Given the description of an element on the screen output the (x, y) to click on. 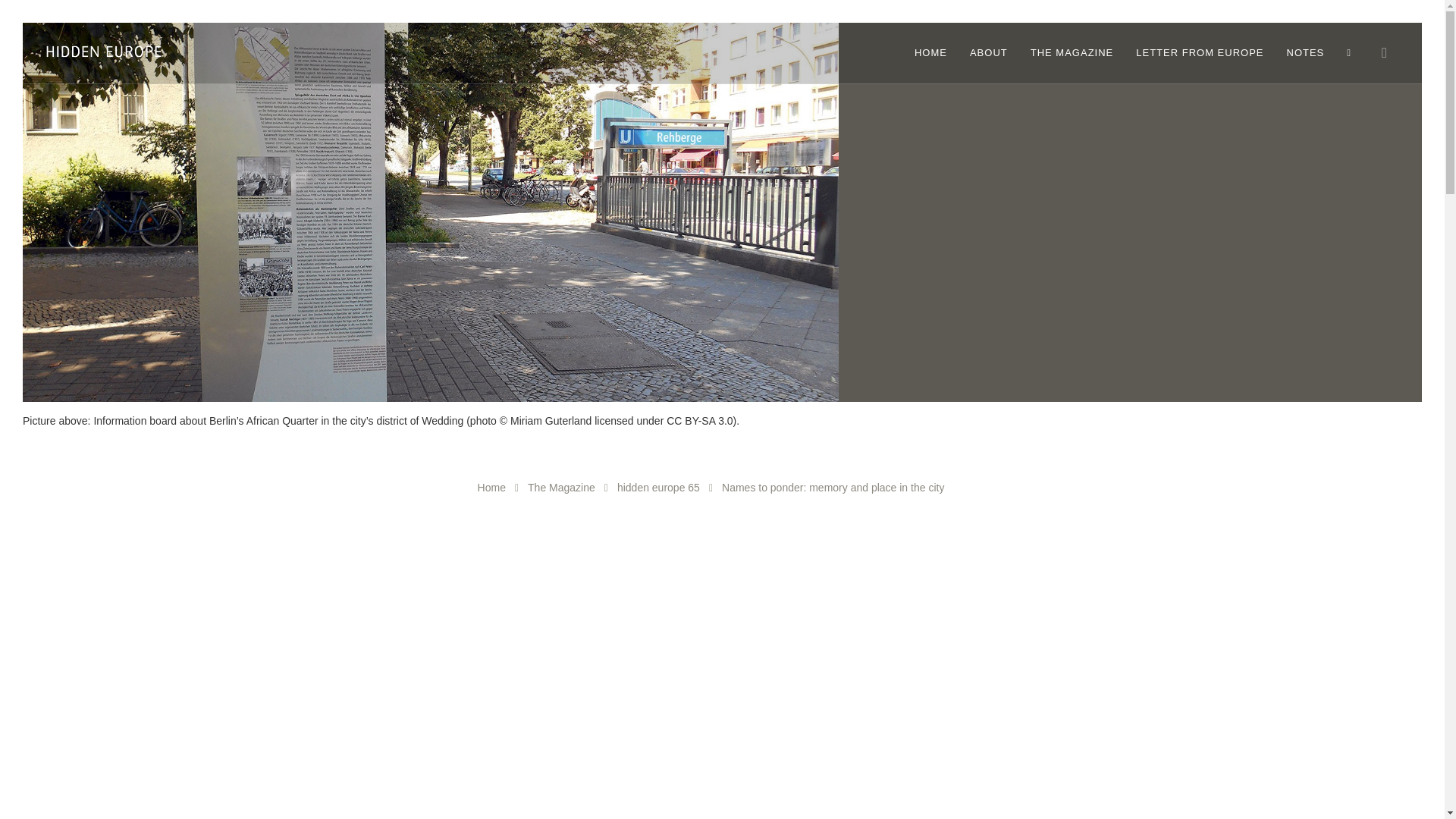
LETTER FROM EUROPE (1199, 52)
Home (491, 487)
THE MAGAZINE (1071, 52)
hidden europe 65 (658, 487)
The Magazine (561, 487)
